Given the description of an element on the screen output the (x, y) to click on. 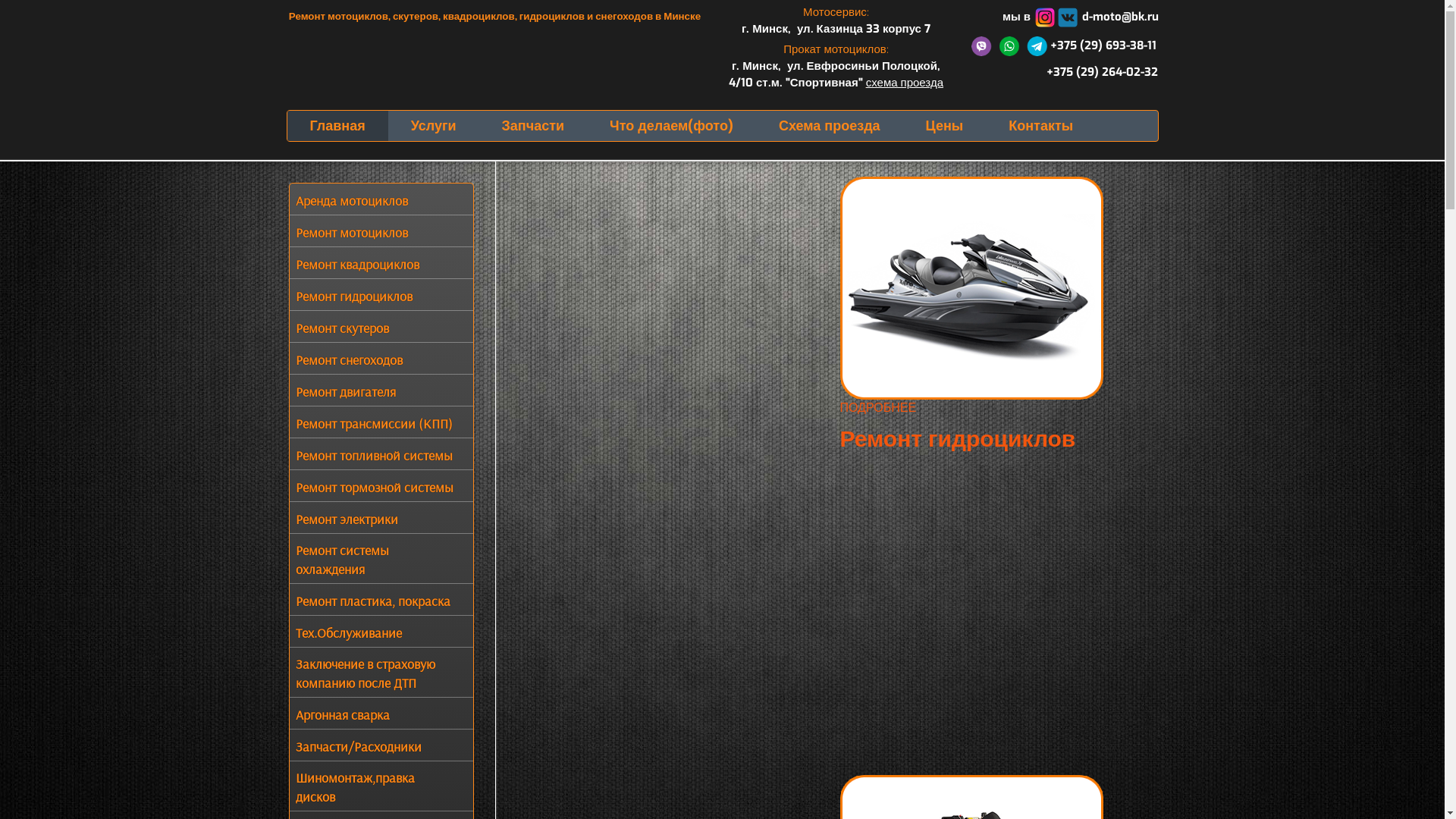
 +375 (29) 693-38-11 Element type: text (1062, 45)
